Given the description of an element on the screen output the (x, y) to click on. 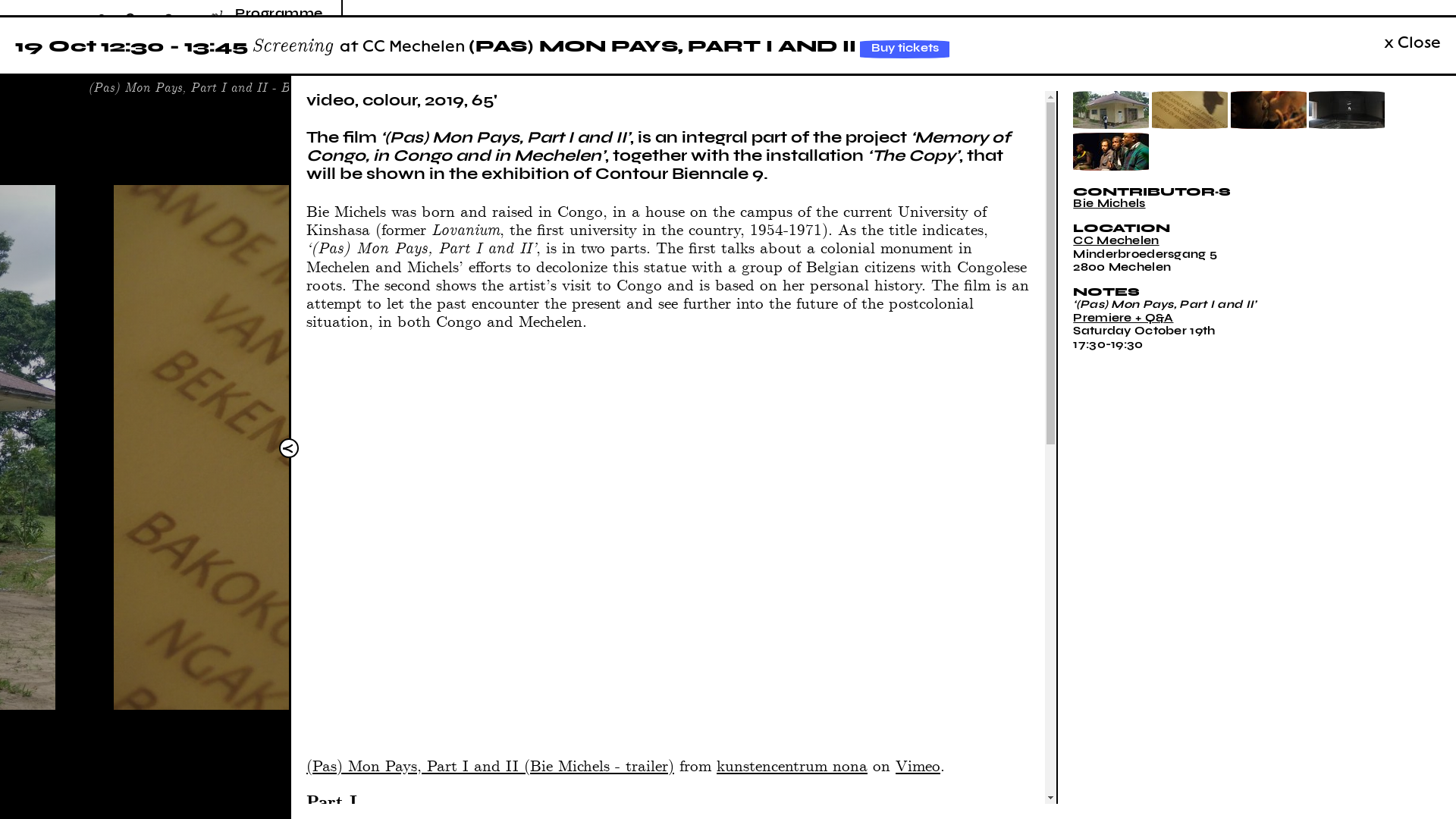
Practical information Element type: text (278, 94)
en Element type: text (217, 30)
kunstencentrum nona Element type: text (791, 764)
(PAS) MON PAYS, PART I AND II Element type: text (662, 45)
CC Mechelen Element type: text (1115, 240)
Venues Element type: text (261, 68)
Programme Element type: text (279, 12)
Premiere + Q&A Element type: text (1123, 317)
Visual report Element type: text (281, 119)
nl Element type: text (216, 14)
Bie Michels Element type: text (1109, 203)
Buy tickets Element type: text (904, 49)
CC Mechelen Element type: text (413, 45)
Contributors Element type: text (281, 31)
(Pas) Mon Pays, Part I and II (Bie Michels - trailer) Element type: text (490, 764)
x Close Element type: text (1411, 41)
Vimeo Element type: text (917, 764)
About Element type: text (257, 49)
